Given the description of an element on the screen output the (x, y) to click on. 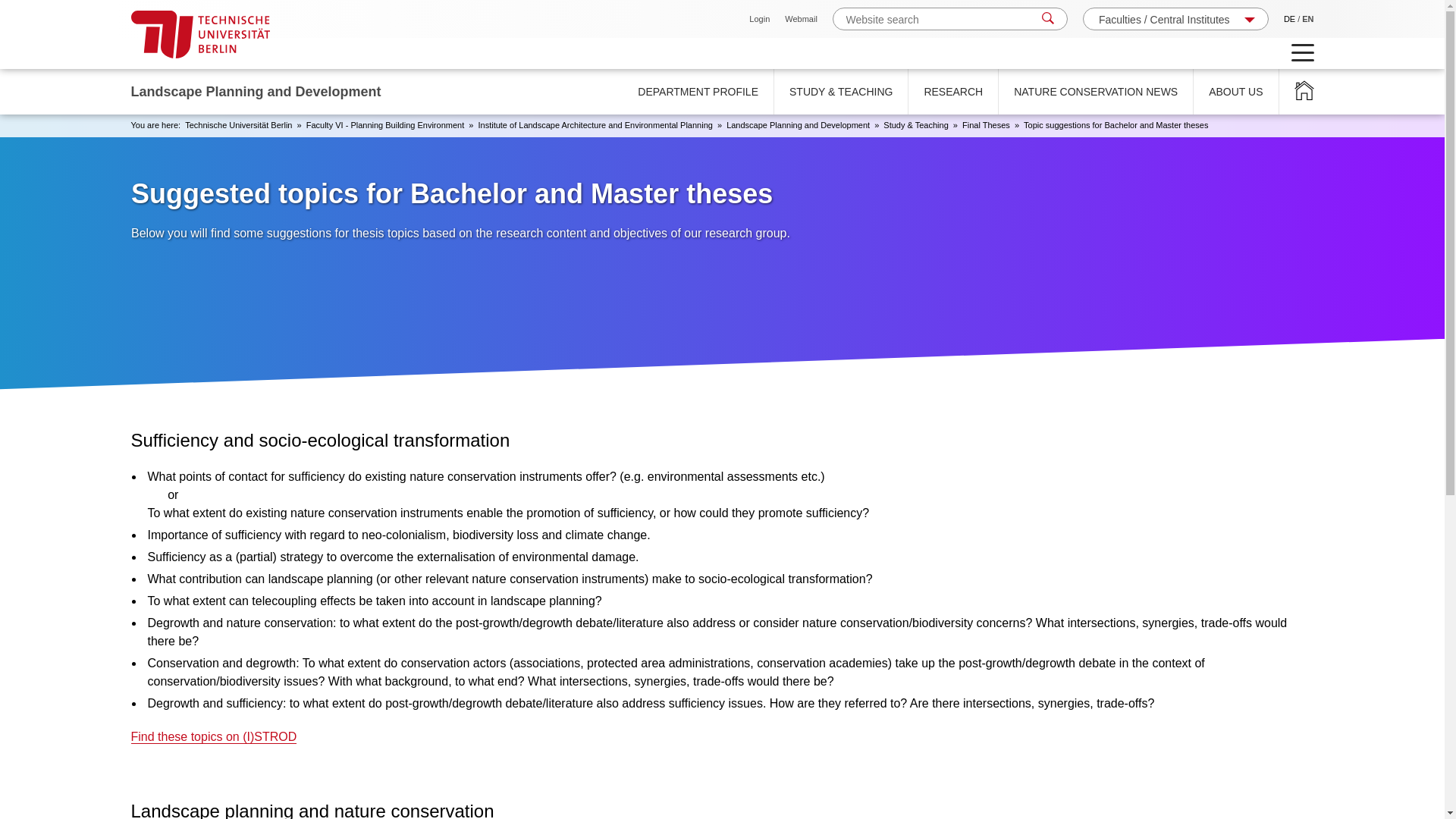
Topic suggestions for Bachelor and Master theses (1115, 124)
Landscape Planning and Development (1302, 91)
TU Berlin (200, 34)
Landscape Planning and Development (797, 124)
Webmail (800, 18)
Login (759, 18)
DE (1289, 18)
Final Theses (986, 124)
English (1307, 18)
Faculty VI - Planning Building Environment (384, 124)
EN (1307, 18)
Deutsch (1289, 18)
